Given the description of an element on the screen output the (x, y) to click on. 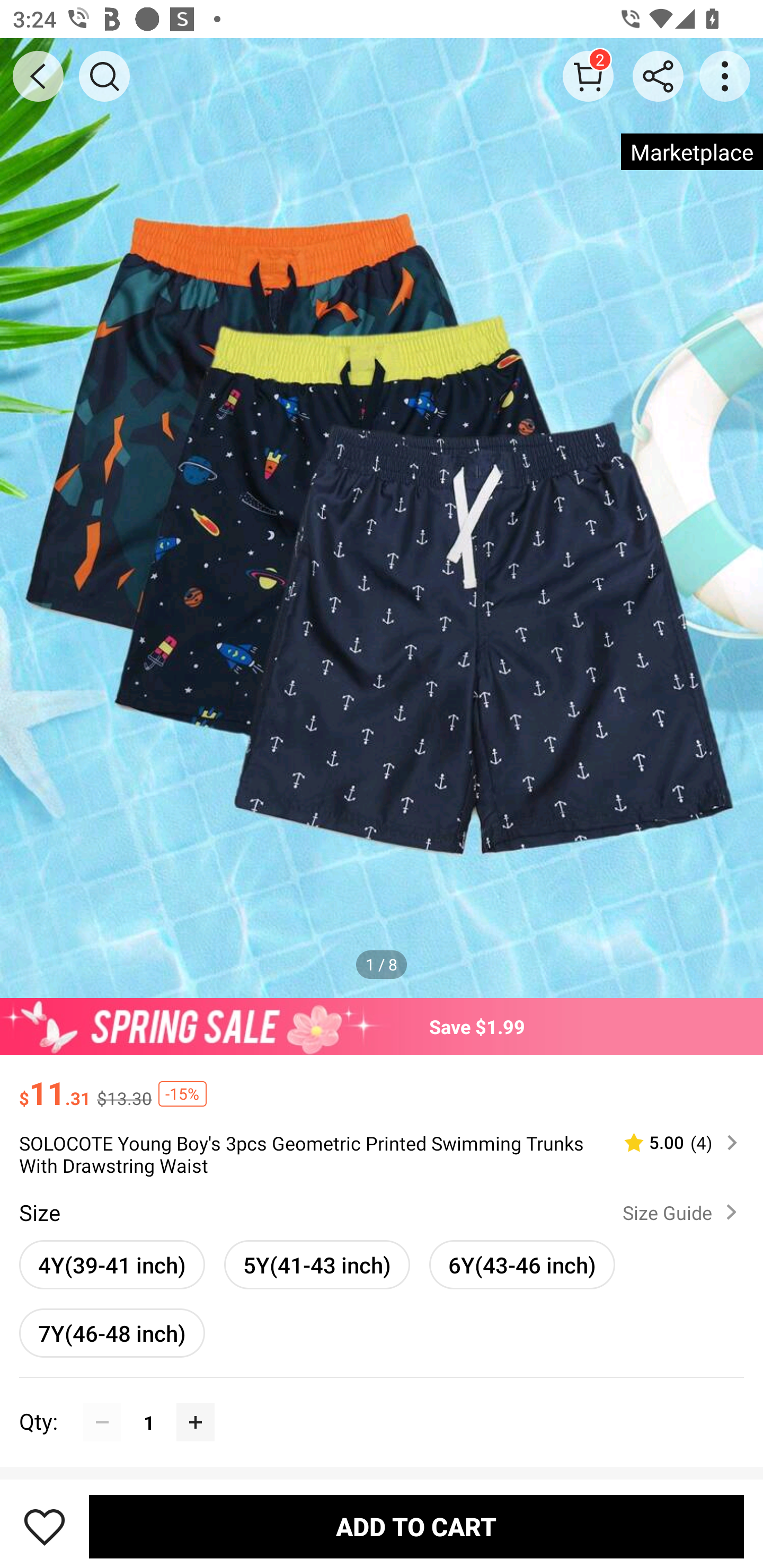
BACK (38, 75)
2 (588, 75)
1 / 8 (381, 964)
Save $1.99 (381, 1026)
$11.31 $13.30 -15% (381, 1084)
5.00 (4) (672, 1142)
Size (39, 1212)
Size Guide (682, 1211)
4Y(39-41 inch) 4Y(39-41 inch)unselected option (112, 1264)
5Y(41-43 inch) 5Y(41-43 inch)unselected option (317, 1264)
6Y(43-46 inch) 6Y(43-46 inch)unselected option (521, 1264)
7Y(46-48 inch) 7Y(46-48 inch)unselected option (112, 1332)
Qty: 1 (381, 1402)
ADD TO CART (416, 1526)
Save (44, 1526)
